Given the description of an element on the screen output the (x, y) to click on. 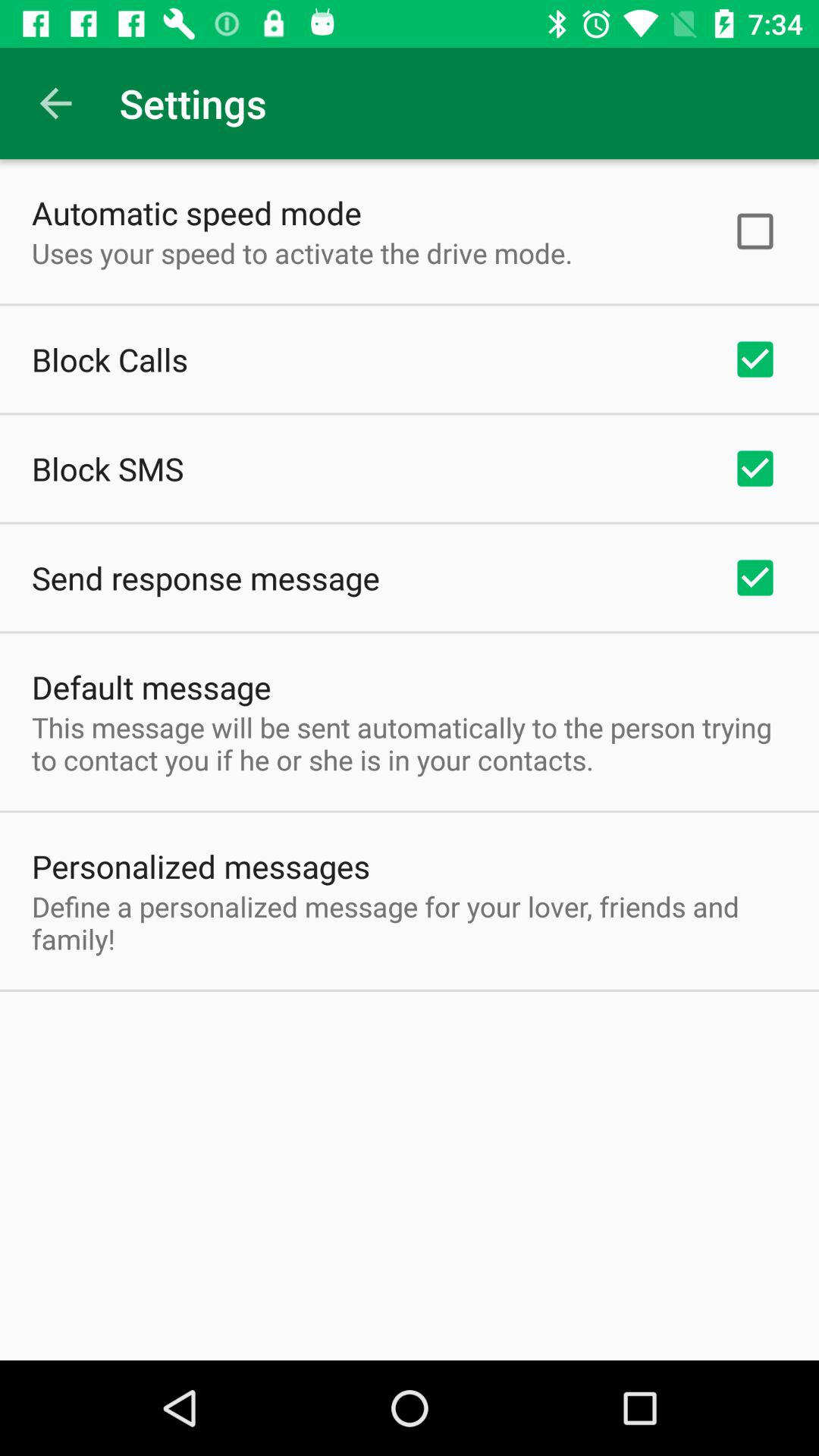
click item next to the settings app (55, 103)
